Given the description of an element on the screen output the (x, y) to click on. 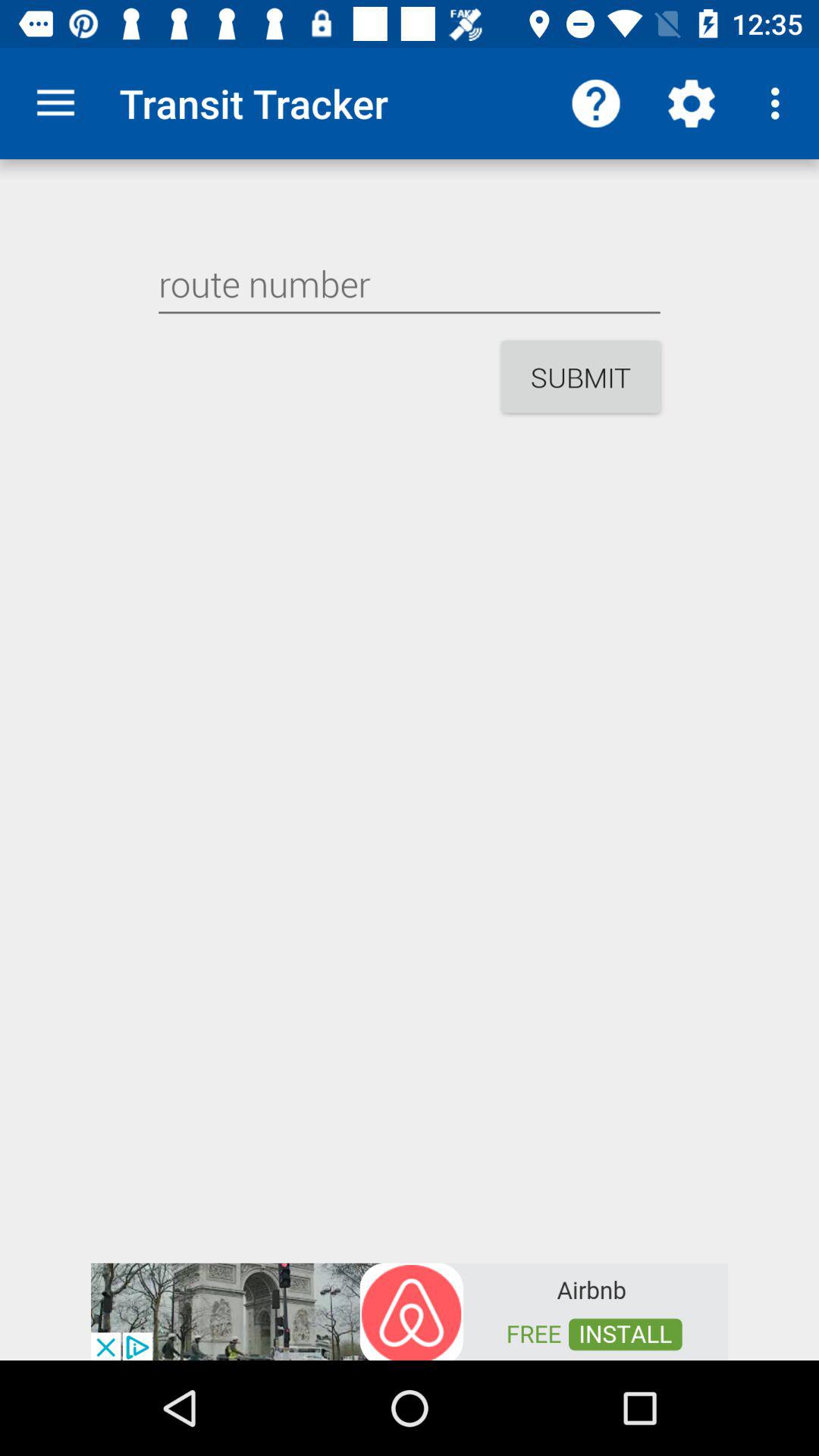
google advertisements (409, 1310)
